Given the description of an element on the screen output the (x, y) to click on. 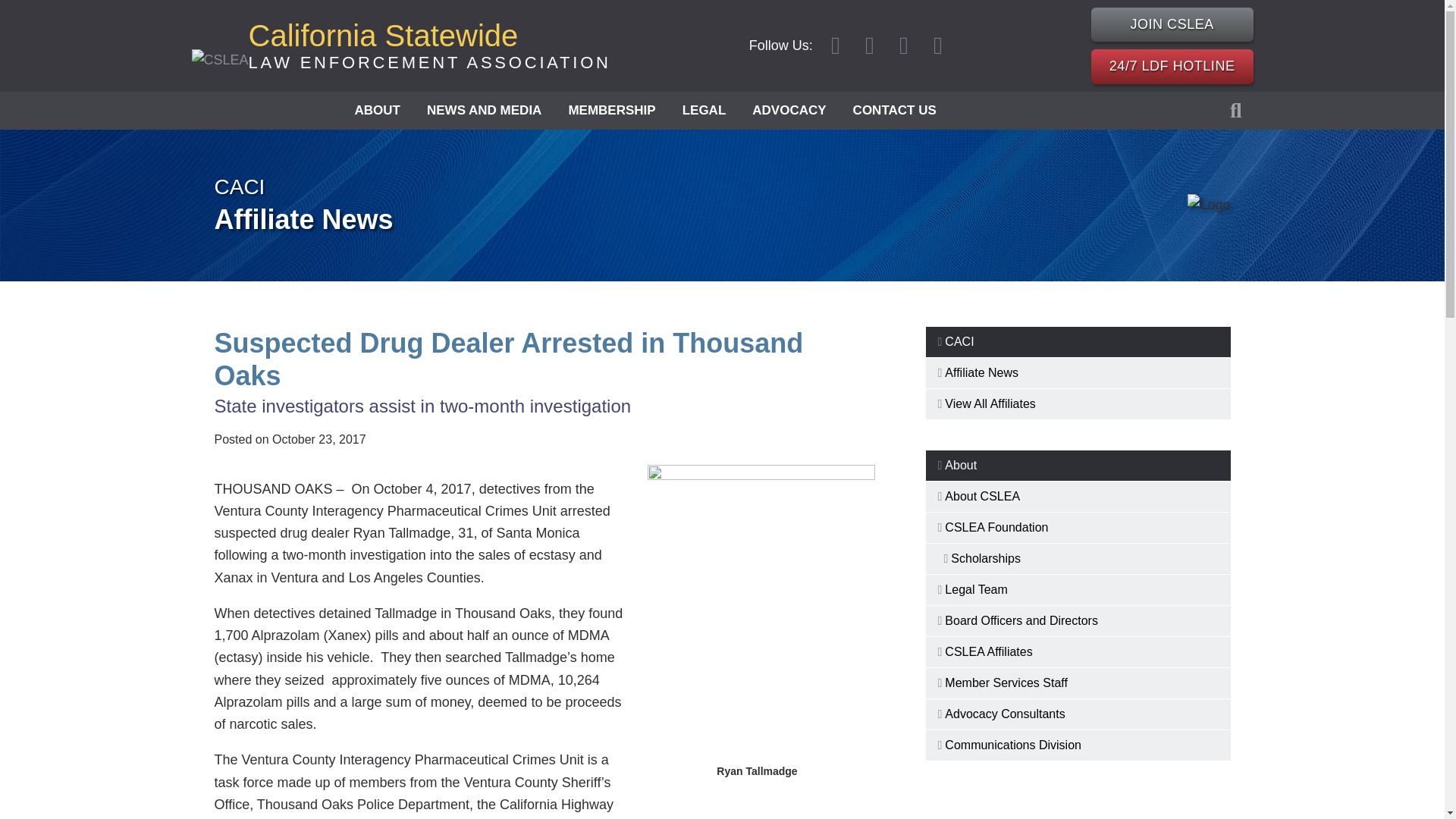
ABOUT (376, 109)
JOIN CSLEA (1171, 24)
MEMBERSHIP (611, 109)
NEWS AND MEDIA (429, 45)
LEGAL (483, 109)
Skip to primary navigation (704, 109)
